Given the description of an element on the screen output the (x, y) to click on. 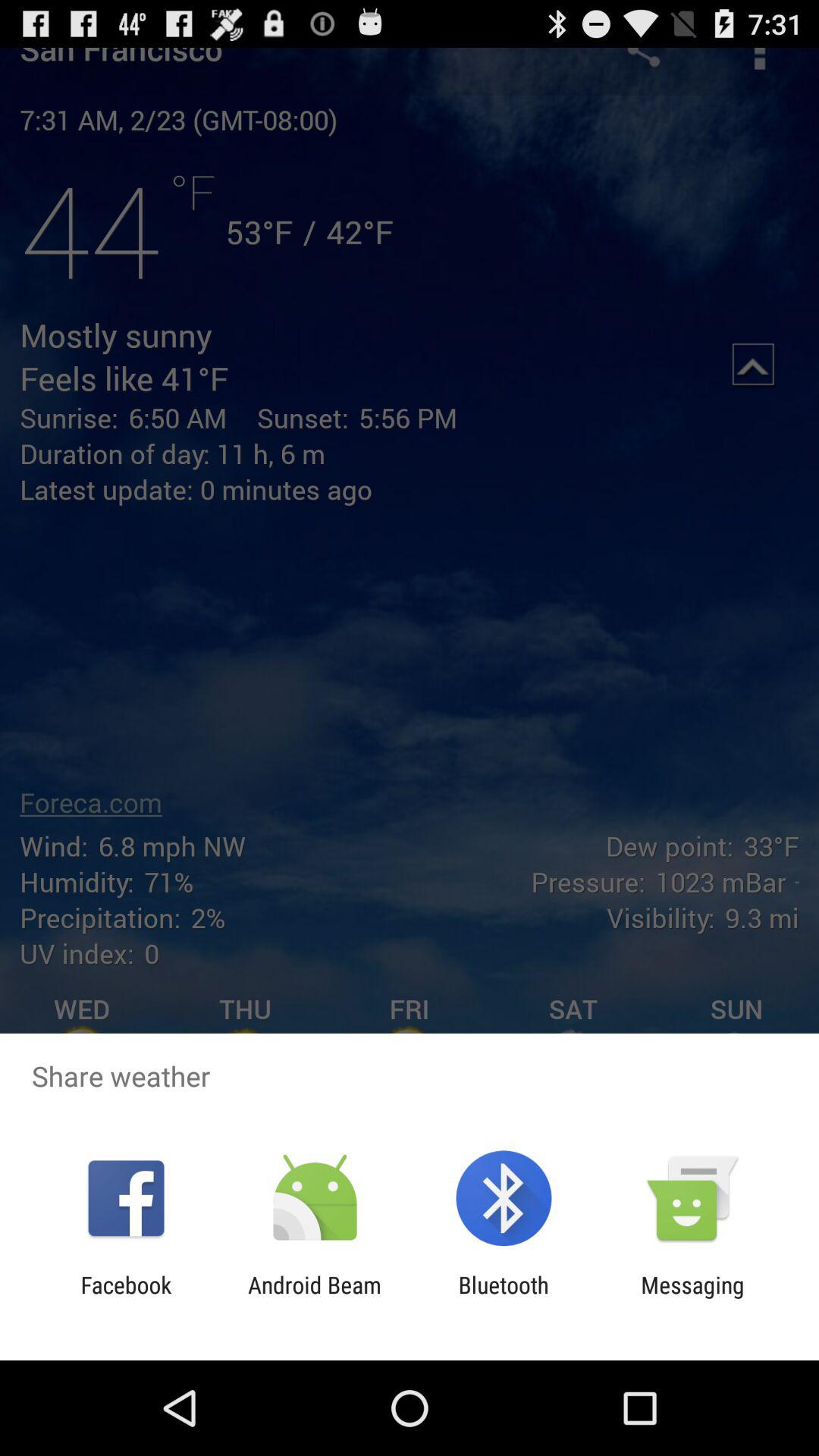
click the app next to the android beam icon (125, 1298)
